Given the description of an element on the screen output the (x, y) to click on. 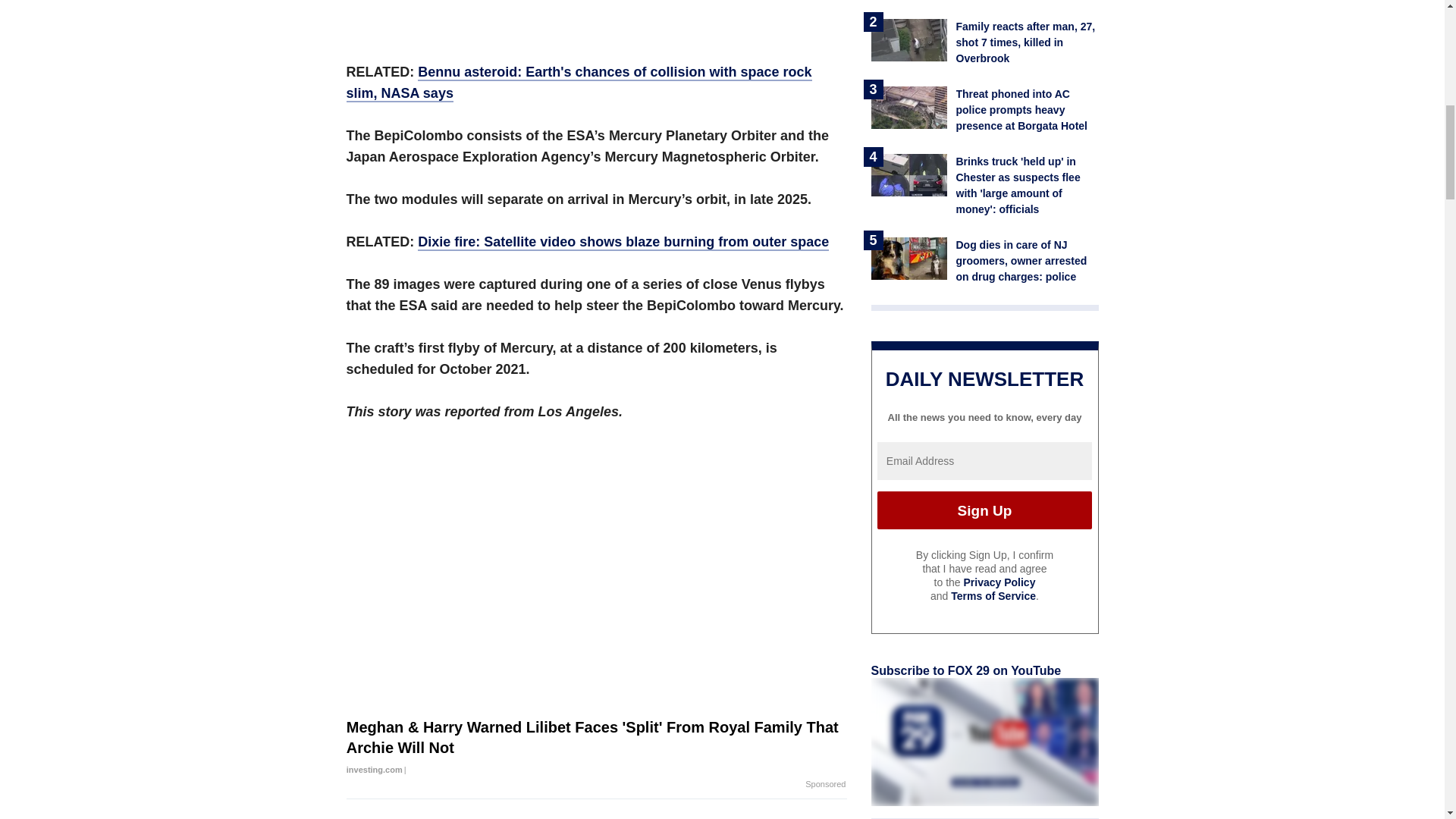
Sign Up (984, 510)
